Given the description of an element on the screen output the (x, y) to click on. 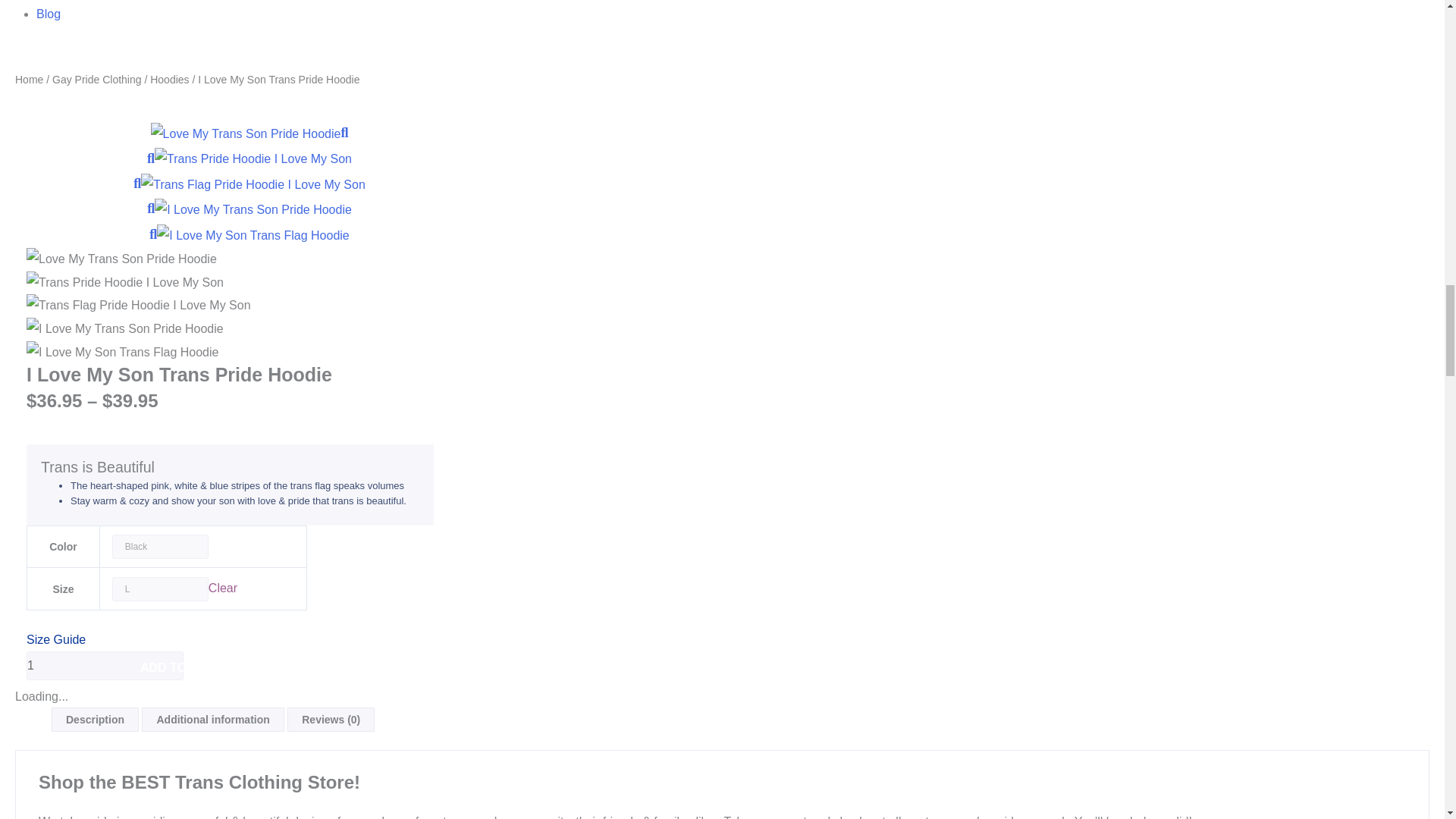
I Love My Son Trans Flag Hoodie (122, 352)
I Love My Trans Son Pride Hoodie (253, 210)
I Love My Trans Son Pride Hoodie (253, 208)
Love My Trans Son Pride Hoodie (245, 132)
Trans Pride Hoodie I Love My Son (125, 282)
Trans Flag Pride Hoodie I Love My Son (253, 183)
Love My Trans Son Pride Hoodie (121, 259)
I Love My Son Trans Flag Hoodie (253, 235)
1 (104, 665)
Trans Flag Pride Hoodie I Love My Son (253, 184)
I Love My Son Trans Flag Hoodie (253, 234)
Love My Trans Son Pride Hoodie (245, 133)
I Love My Trans Son Pride Hoodie (125, 328)
Trans Flag Pride Hoodie I Love My Son (138, 305)
Trans Pride Hoodie I Love My Son (253, 158)
